Given the description of an element on the screen output the (x, y) to click on. 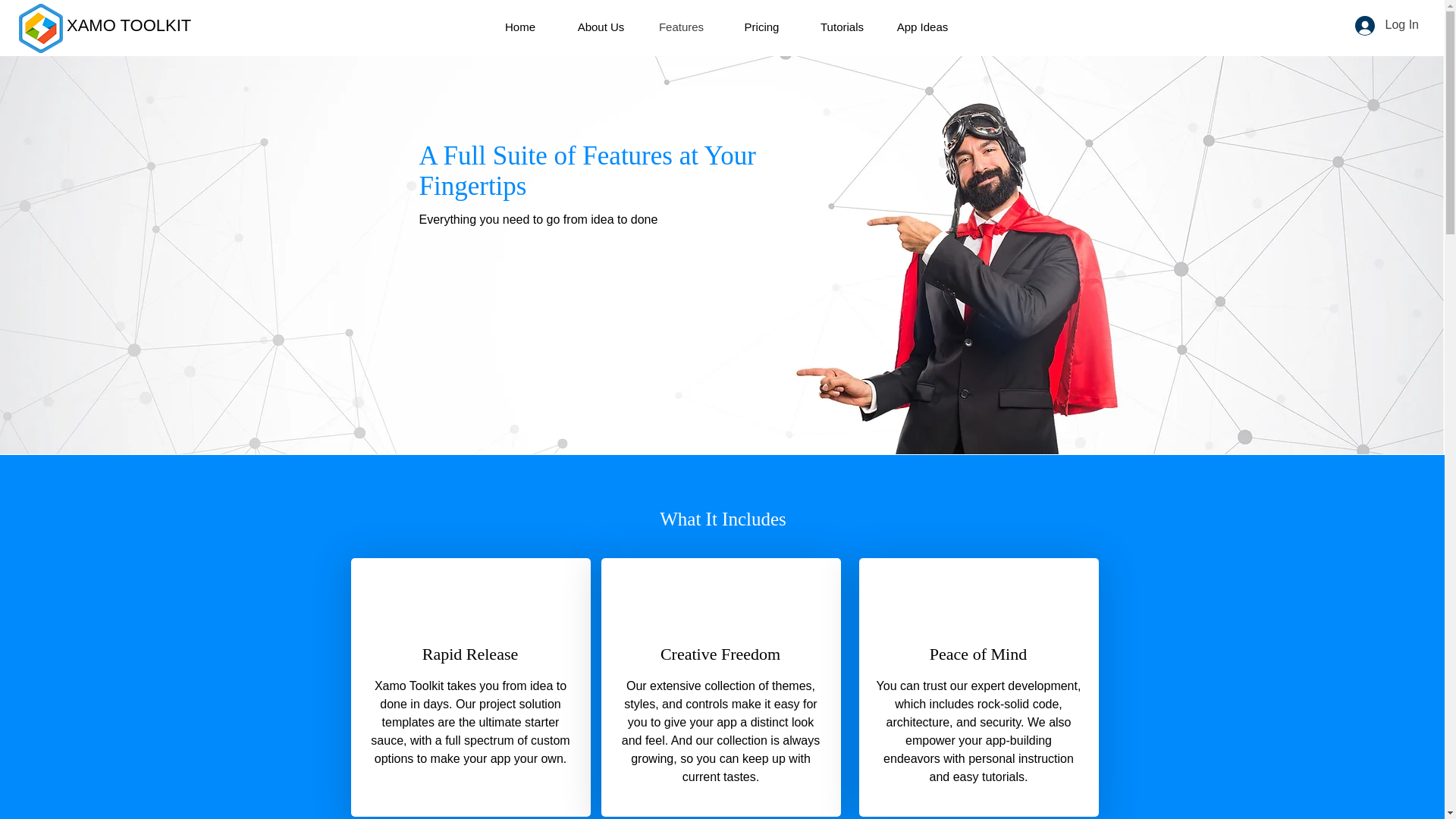
Tutorials (842, 26)
Features (682, 26)
Home (519, 26)
XAMO TOOLKIT (128, 25)
About Us (601, 26)
Pricing (762, 26)
Log In (1386, 24)
App Ideas (922, 26)
